Given the description of an element on the screen output the (x, y) to click on. 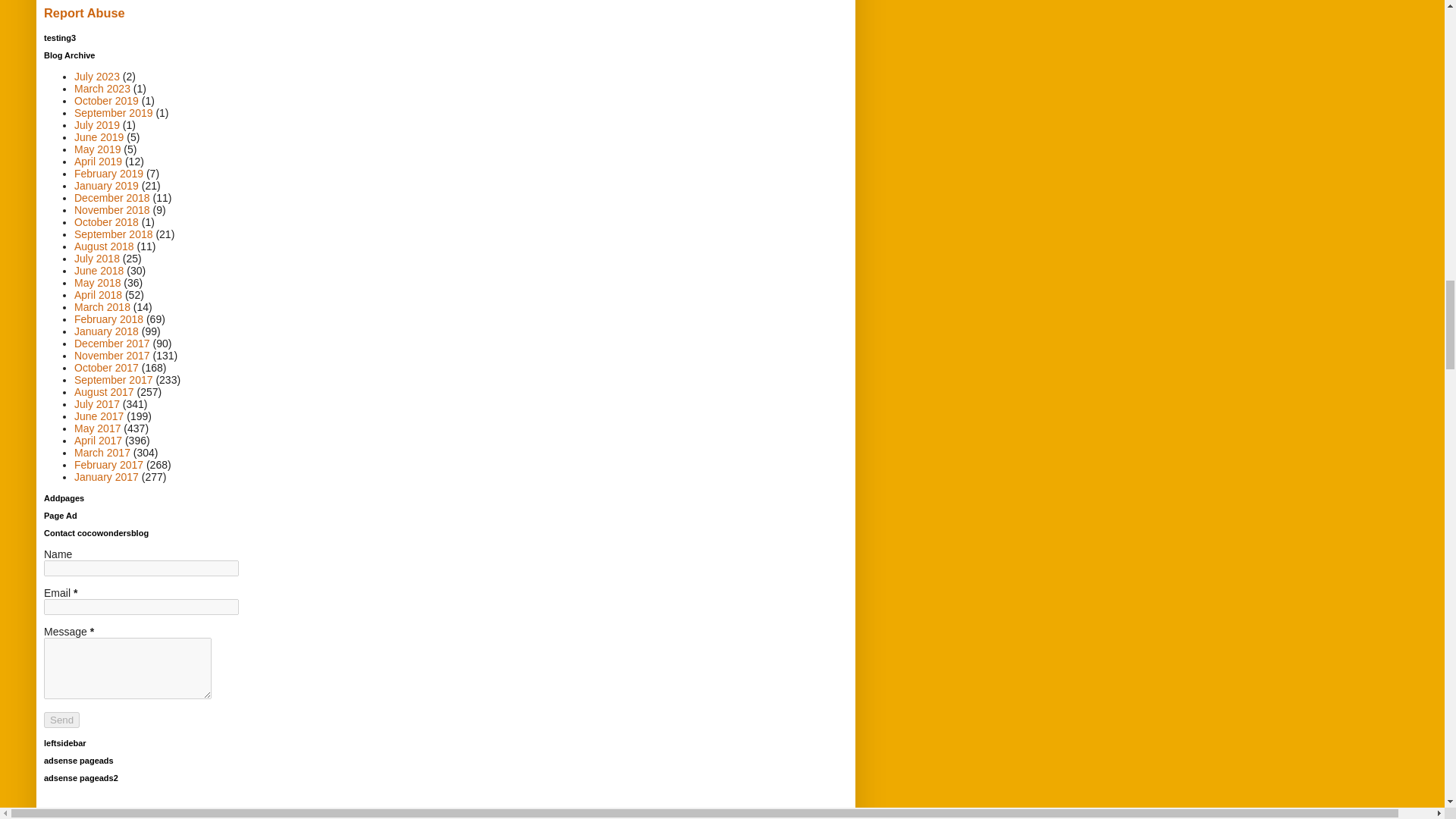
February 2019 (108, 173)
December 2018 (111, 197)
July 2018 (96, 258)
Send (61, 719)
September 2019 (113, 112)
April 2018 (98, 295)
March 2023 (102, 88)
July 2019 (96, 124)
October 2019 (106, 101)
August 2018 (103, 246)
March 2018 (102, 306)
November 2018 (111, 209)
Report Abuse (84, 12)
June 2018 (98, 270)
September 2018 (113, 234)
